Given the description of an element on the screen output the (x, y) to click on. 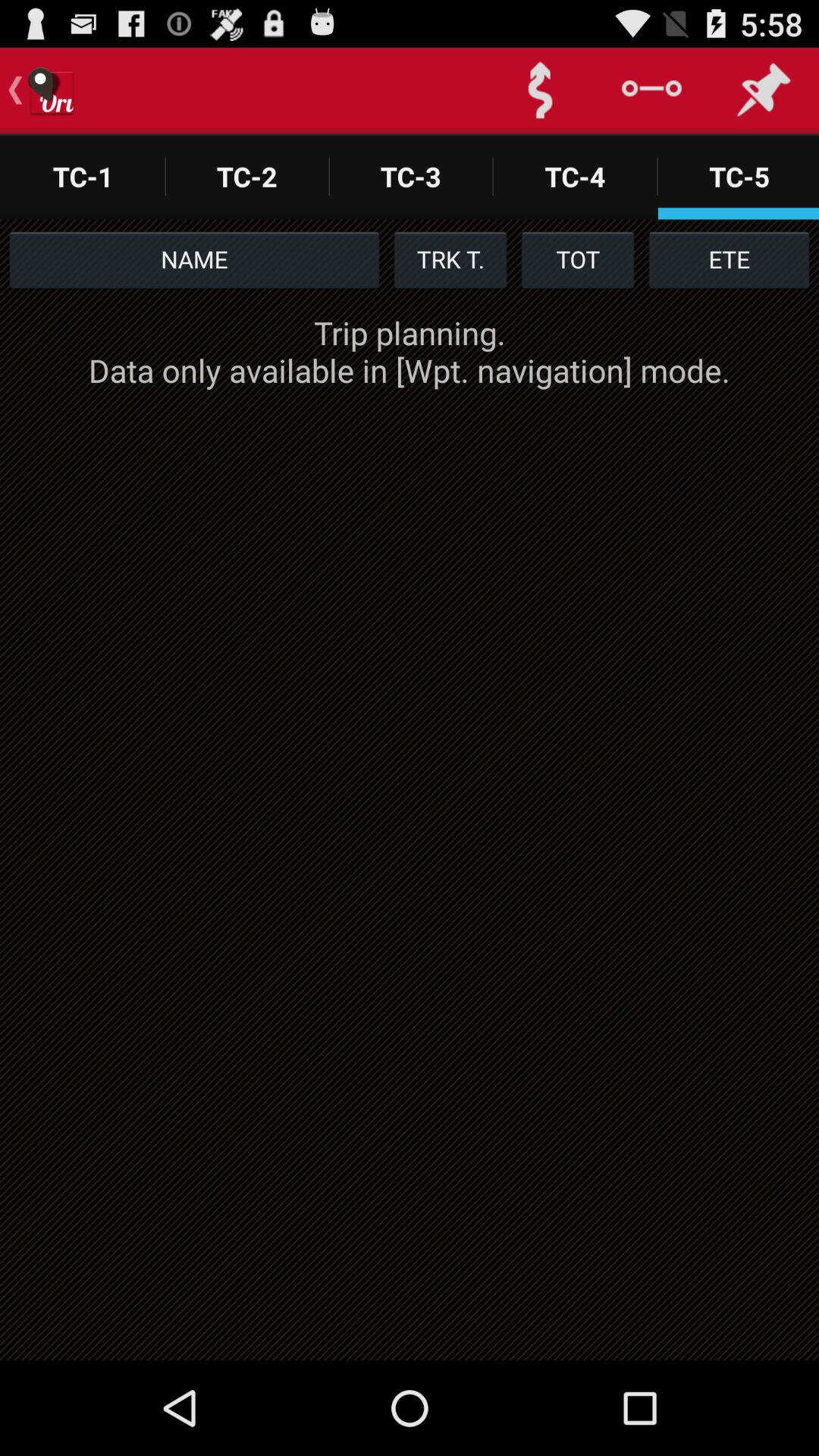
choose item next to name (450, 259)
